Given the description of an element on the screen output the (x, y) to click on. 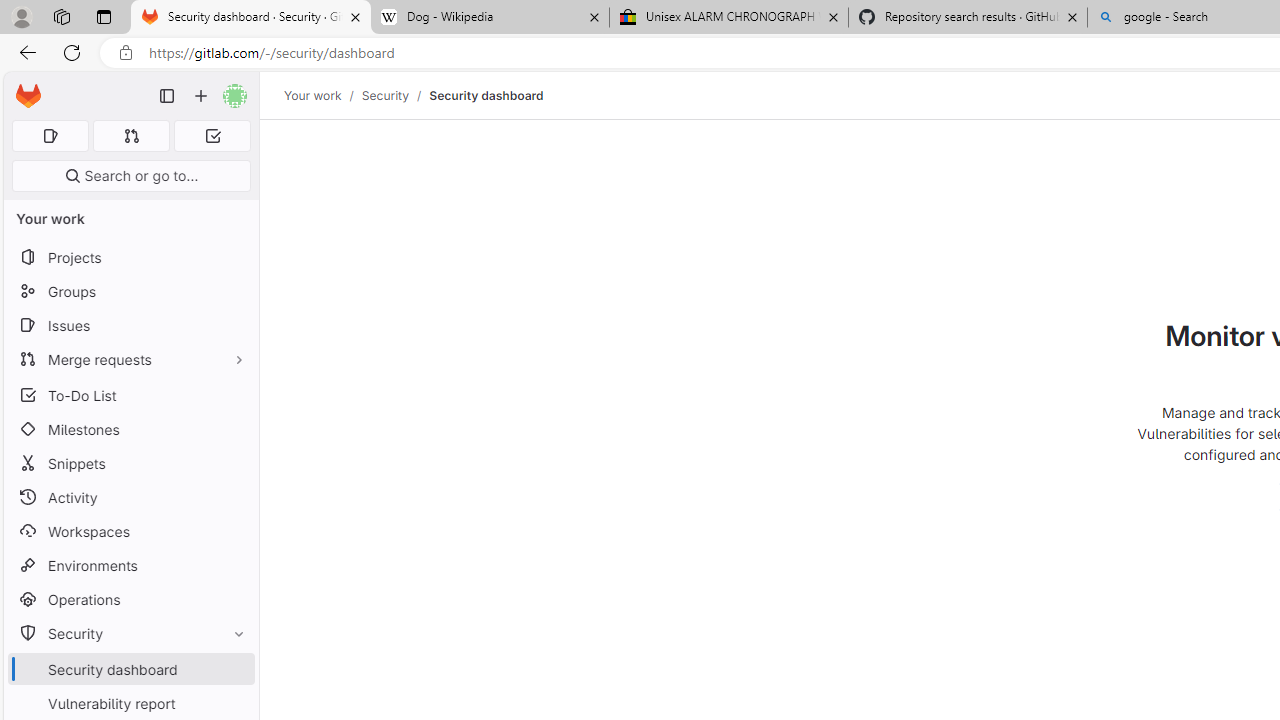
Skip to main content (23, 87)
Issues (130, 325)
Vulnerability report (130, 703)
Merge requests (130, 358)
Security (130, 633)
Merge requests (130, 358)
Activity (130, 497)
Milestones (130, 429)
To-Do list 0 (212, 136)
To-Do List (130, 394)
